Given the description of an element on the screen output the (x, y) to click on. 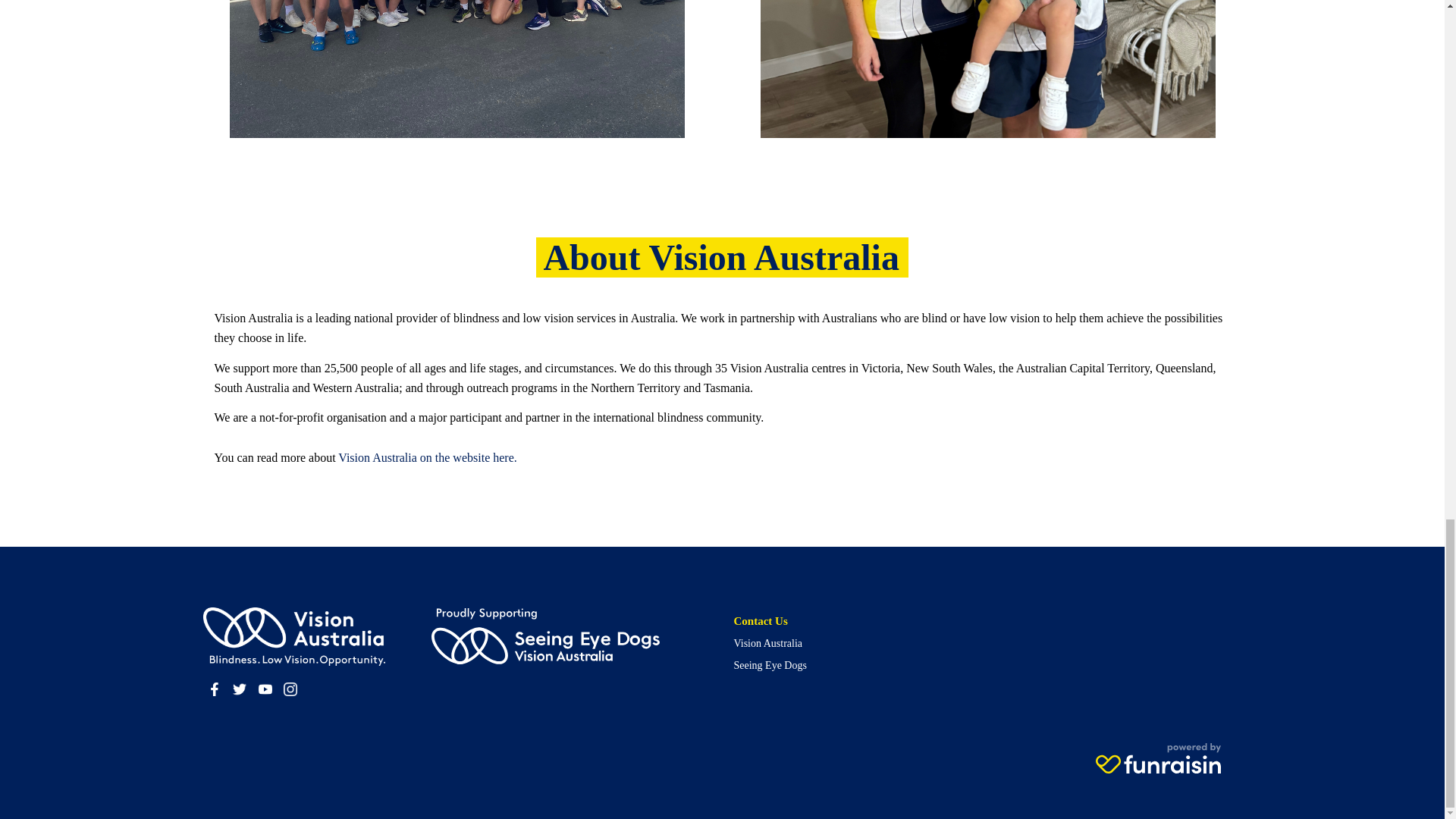
Vision Australia on the website here. (426, 457)
Image of a family smiling at the camera (987, 69)
